Given the description of an element on the screen output the (x, y) to click on. 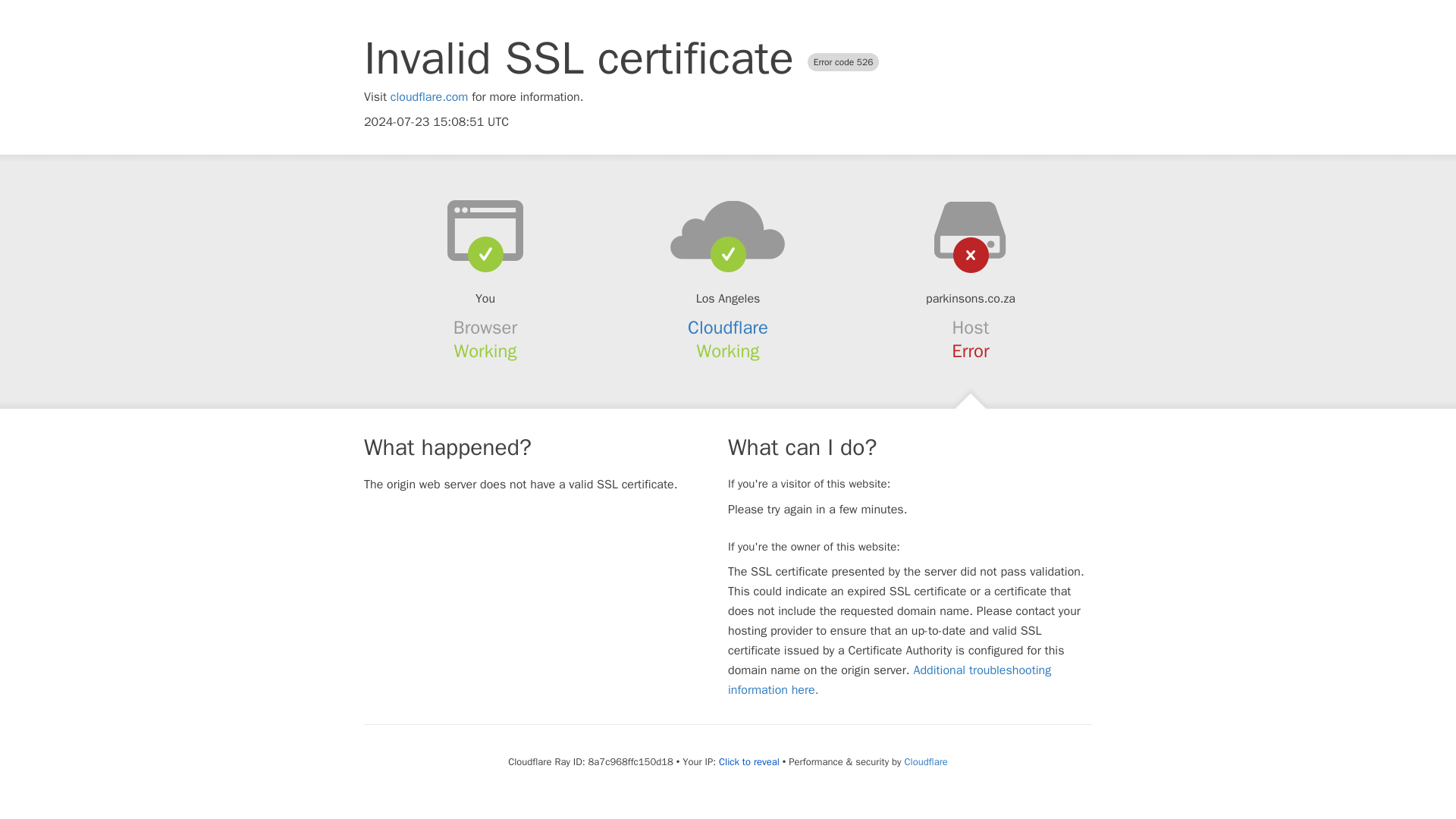
cloudflare.com (429, 96)
Cloudflare (925, 761)
Click to reveal (748, 762)
Additional troubleshooting information here. (889, 679)
Cloudflare (727, 327)
